Given the description of an element on the screen output the (x, y) to click on. 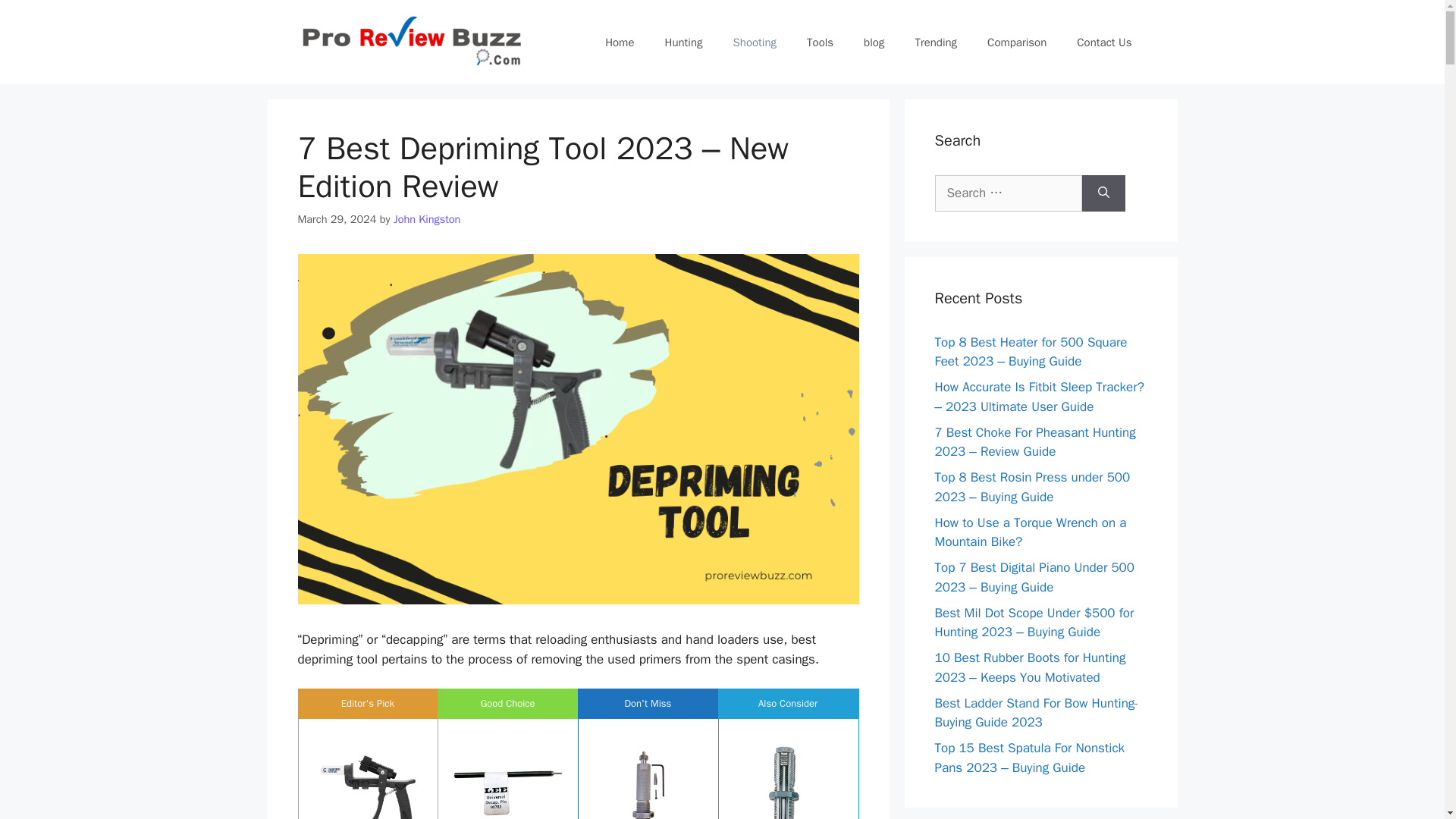
Tools (820, 42)
Comparison (1016, 42)
John Kingston (427, 219)
View all posts by John Kingston (427, 219)
Contact Us (1104, 42)
Trending (935, 42)
Home (619, 42)
blog (873, 42)
Shooting (754, 42)
Hunting (683, 42)
